Given the description of an element on the screen output the (x, y) to click on. 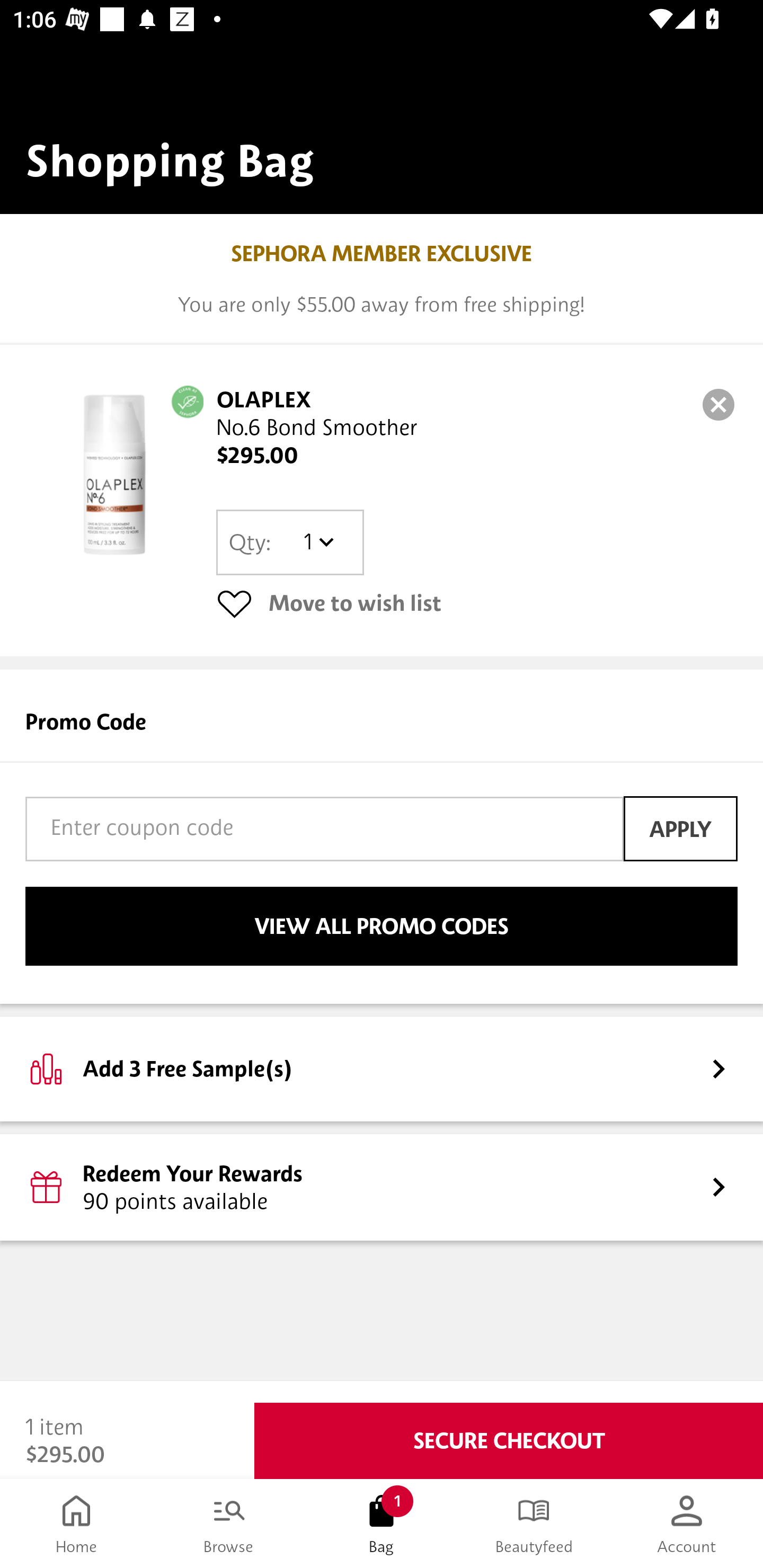
1 (317, 542)
Move to wish list (476, 602)
APPLY (680, 828)
Enter coupon code (324, 828)
VIEW ALL PROMO CODES (381, 926)
Add 3 Free Sample(s) (381, 1068)
Redeem Your Rewards 90 points available (381, 1186)
SECURE CHECKOUT (508, 1440)
Home (76, 1523)
Browse (228, 1523)
Beautyfeed (533, 1523)
Account (686, 1523)
